Given the description of an element on the screen output the (x, y) to click on. 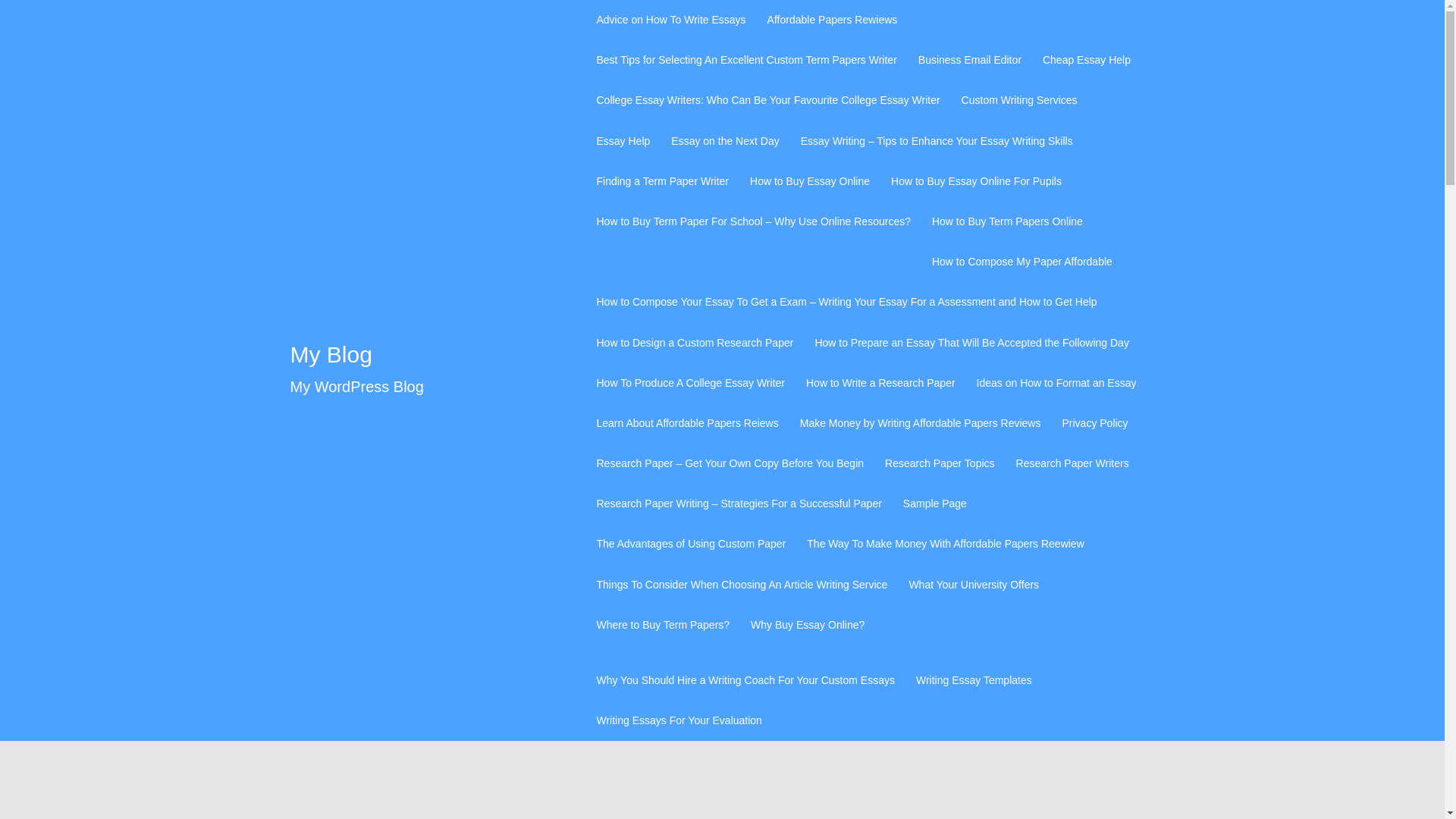
Writing Essays For Your Evaluation (678, 720)
Why You Should Hire a Writing Coach For Your Custom Essays (744, 680)
Make Money by Writing Affordable Papers Reviews (920, 423)
Research Paper Writers (1072, 463)
Business Email Editor (970, 59)
The Advantages of Using Custom Paper (690, 543)
Ideas on How to Format an Essay (1056, 383)
How to Buy Essay Online (809, 180)
Custom Writing Services (1018, 99)
Finding a Term Paper Writer (662, 180)
Writing Essay Templates (973, 680)
How to Buy Term Papers Online (1007, 221)
